Given the description of an element on the screen output the (x, y) to click on. 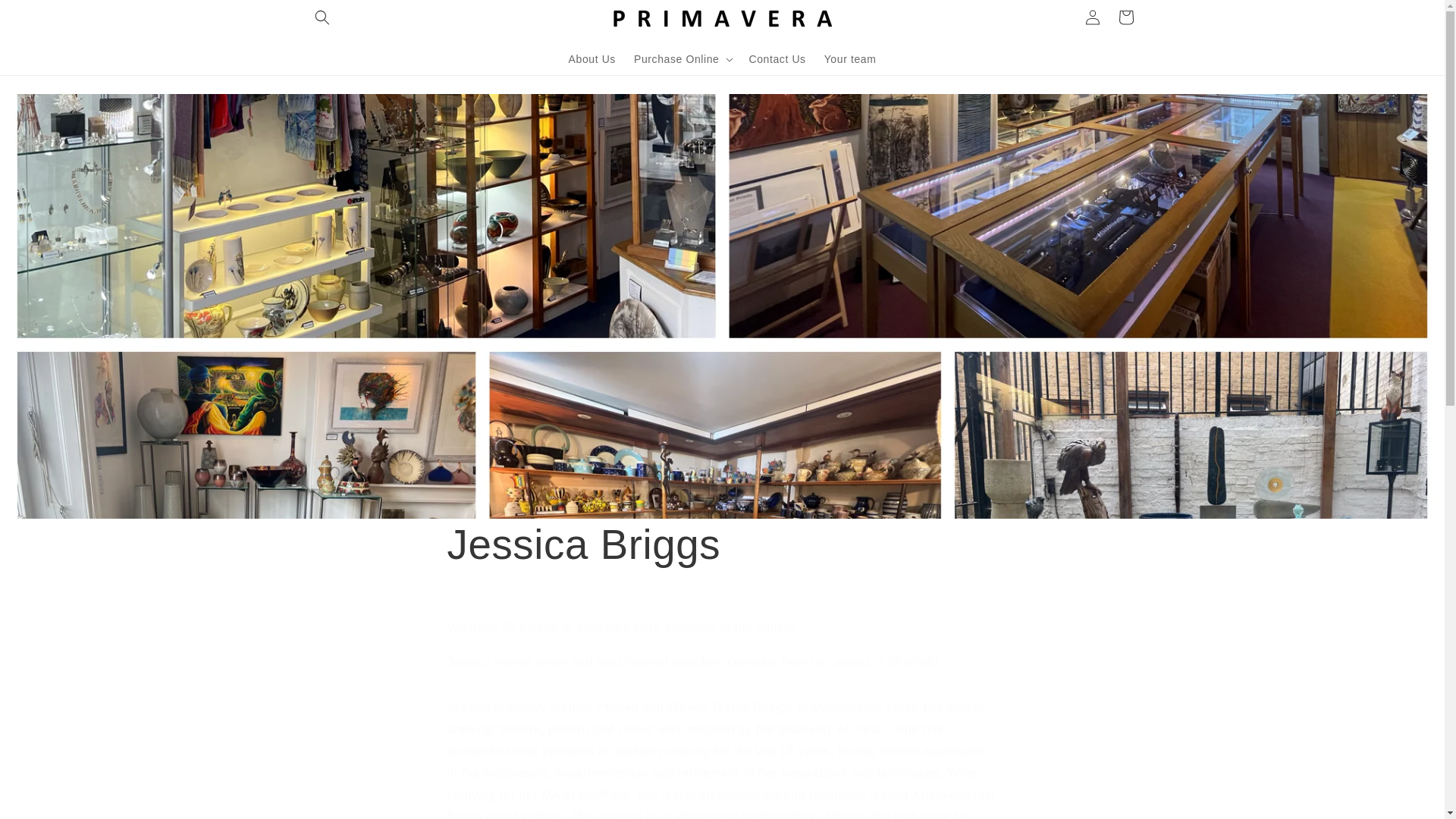
Log in (1091, 17)
Your team (850, 58)
Jessica Briggs (721, 544)
Contact Us (776, 58)
About Us (591, 58)
Cart (1124, 17)
Skip to content (45, 17)
